Given the description of an element on the screen output the (x, y) to click on. 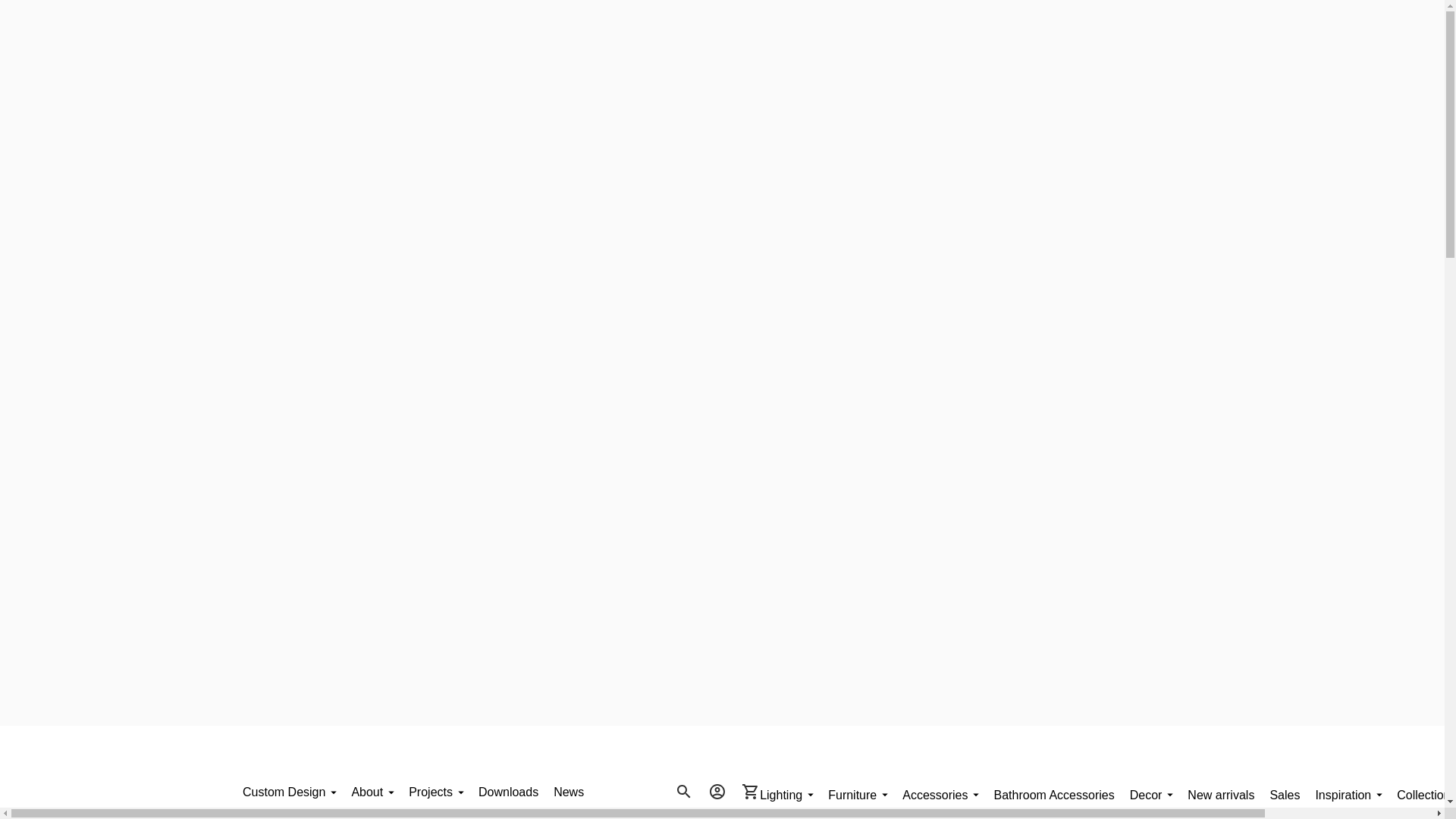
Account (716, 791)
Custom Design (289, 791)
Cart (750, 791)
Search (683, 791)
Projects (436, 791)
About (371, 791)
